Given the description of an element on the screen output the (x, y) to click on. 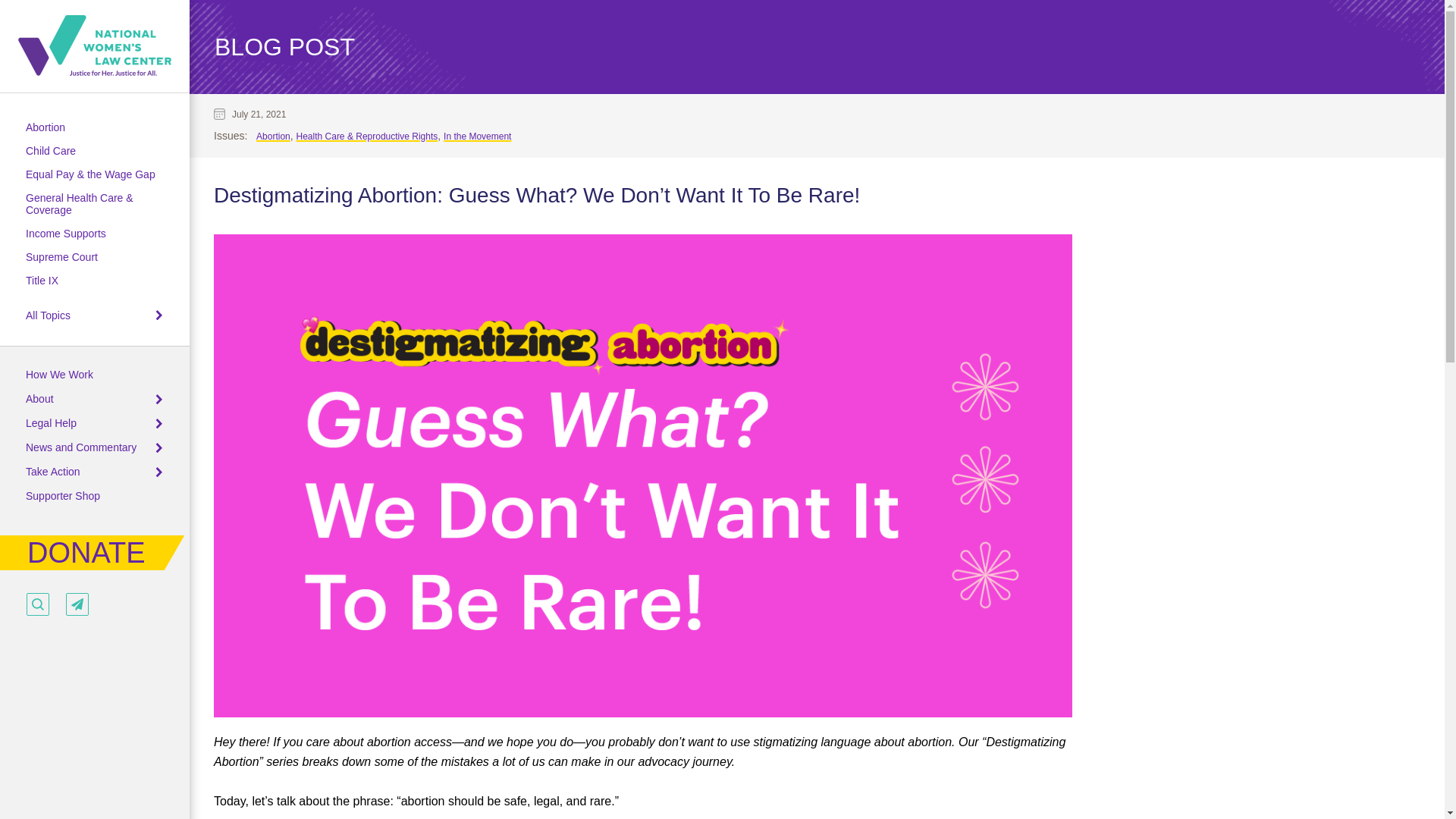
Supreme Court (61, 256)
All Topics (47, 315)
Site Branding (94, 45)
Income Supports (66, 233)
Title IX (42, 280)
Child Care (50, 150)
Abortion (45, 127)
